Given the description of an element on the screen output the (x, y) to click on. 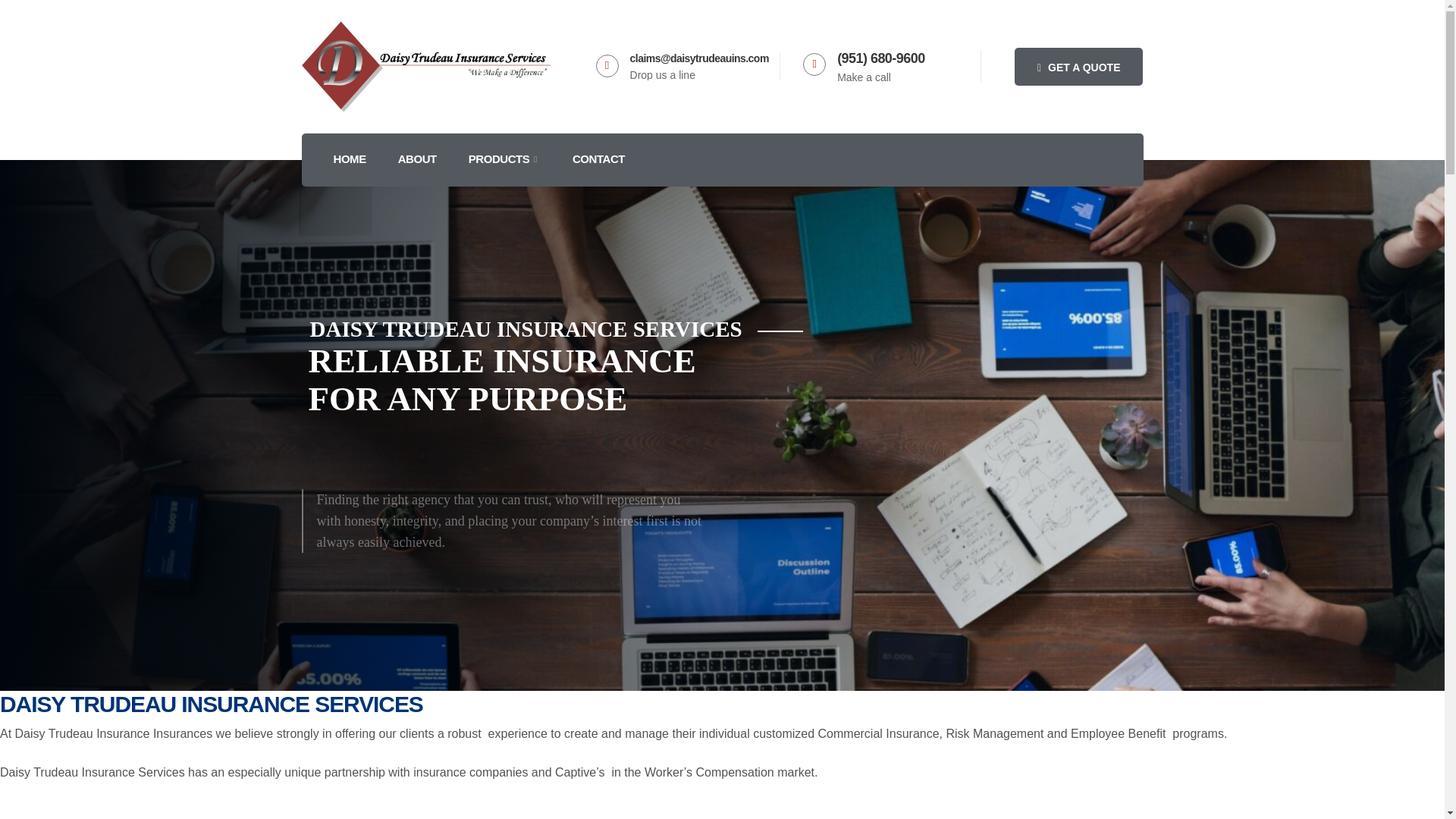
ABOUT (416, 159)
GET A QUOTE (1078, 66)
HOME (349, 159)
CONTACT (598, 159)
PRODUCTS (503, 159)
GET A QUOTE (29, 538)
